Given the description of an element on the screen output the (x, y) to click on. 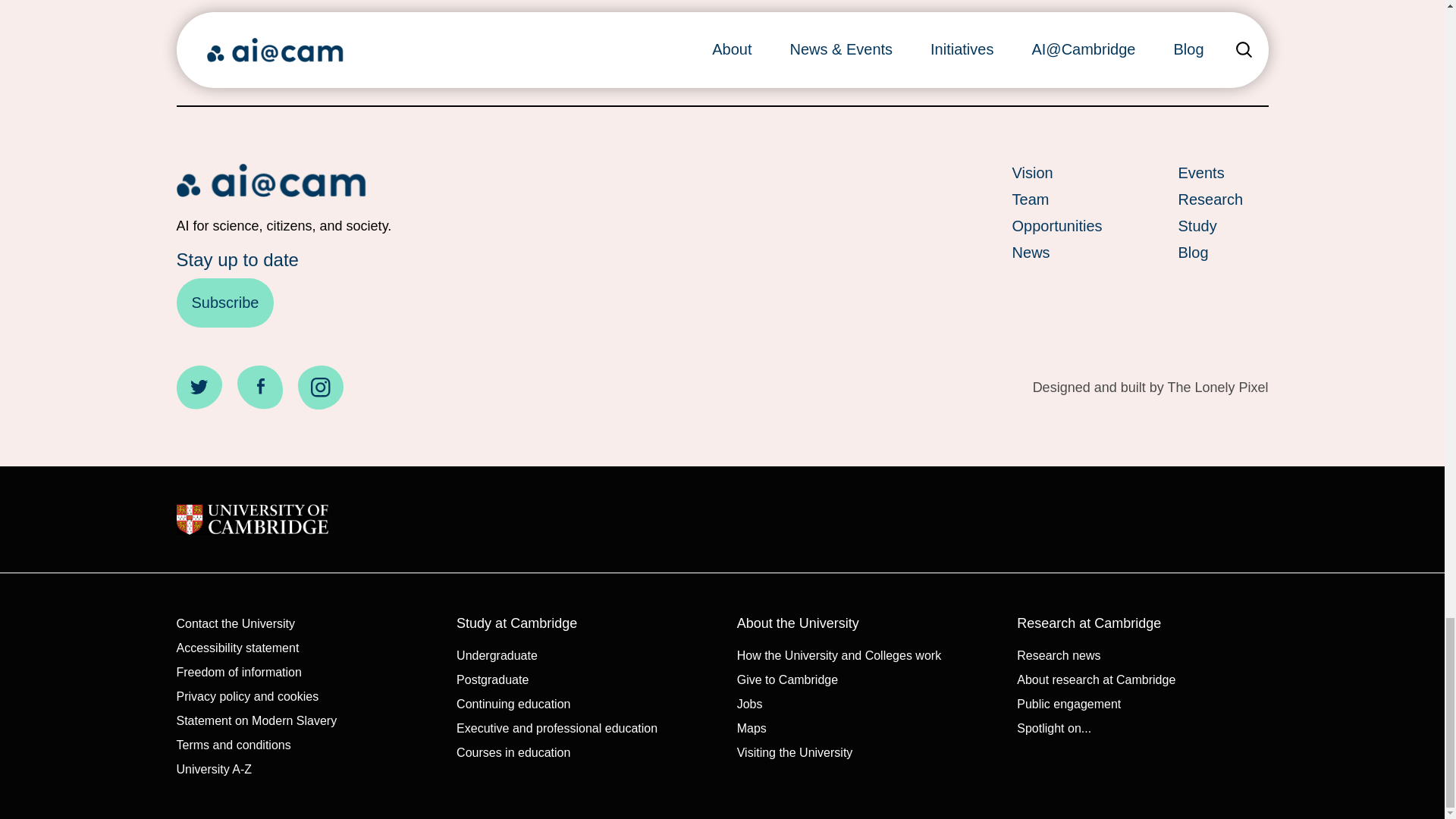
Team (1056, 199)
Events (1222, 172)
Blog (1222, 252)
Vision (1056, 172)
Study (1222, 226)
Designed and built by The Lonely Pixel (1150, 387)
News (1056, 252)
Opportunities (1056, 226)
Subscribe (224, 302)
Research (1222, 199)
